Given the description of an element on the screen output the (x, y) to click on. 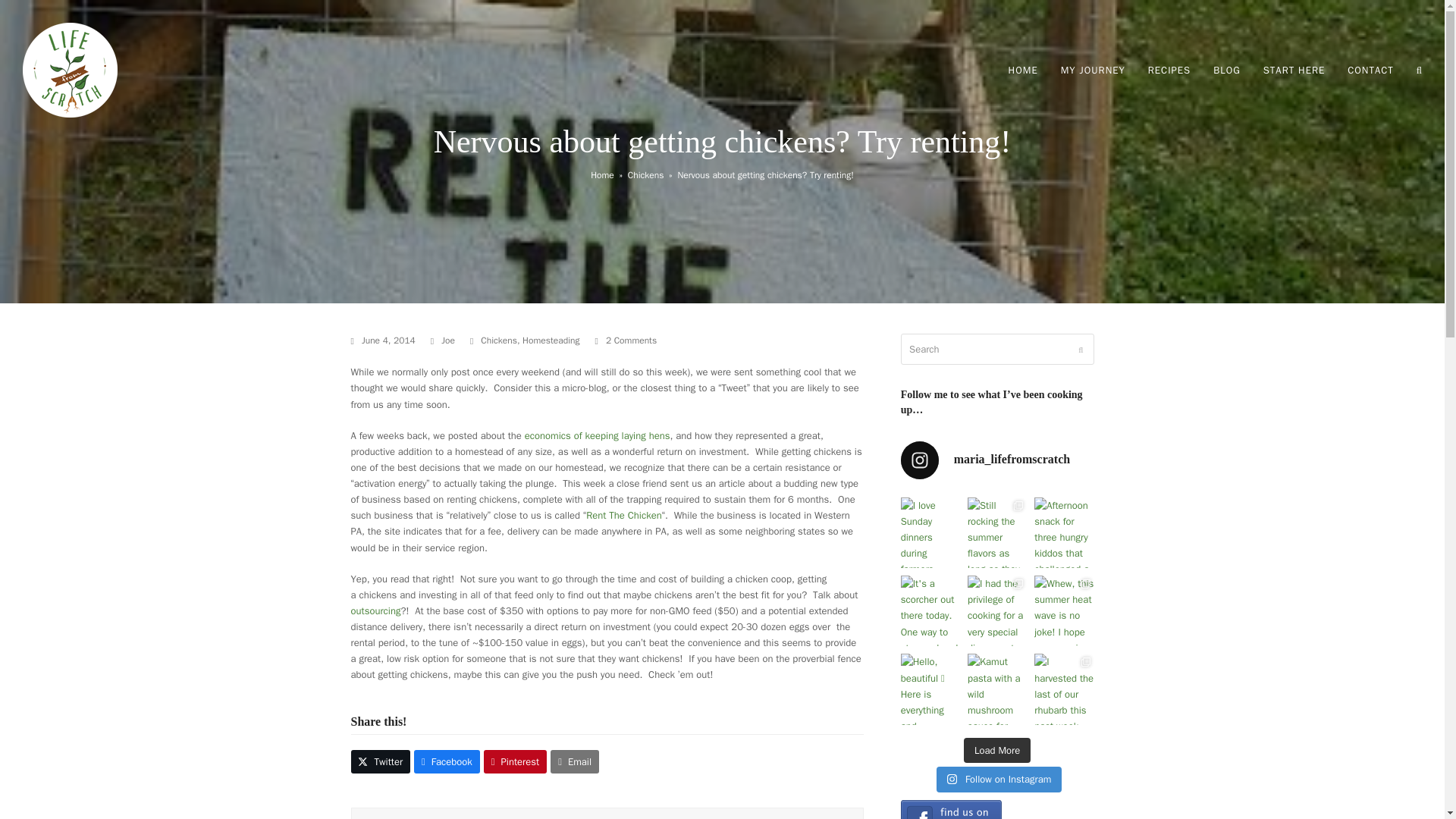
Homesteading (550, 340)
Chickens (645, 174)
economics of keeping laying hens (596, 435)
CONTACT (1370, 70)
Home (602, 174)
Email (574, 761)
outsourcing (375, 610)
HOME (1023, 70)
START HERE (1294, 70)
2 Comments (626, 340)
